Given the description of an element on the screen output the (x, y) to click on. 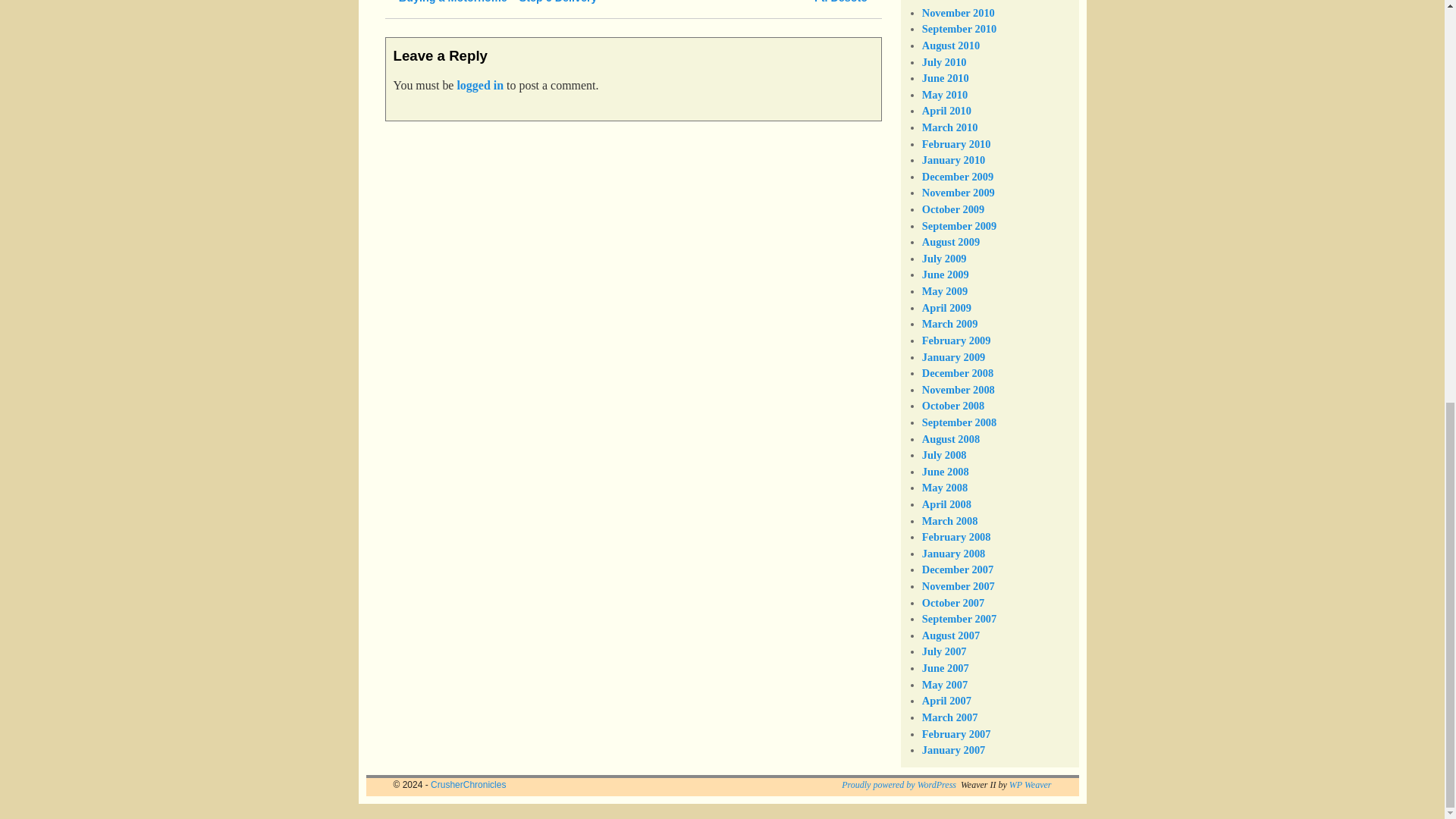
logged in (480, 84)
wordpress.org (898, 784)
CrusherChronicles (467, 784)
